Given the description of an element on the screen output the (x, y) to click on. 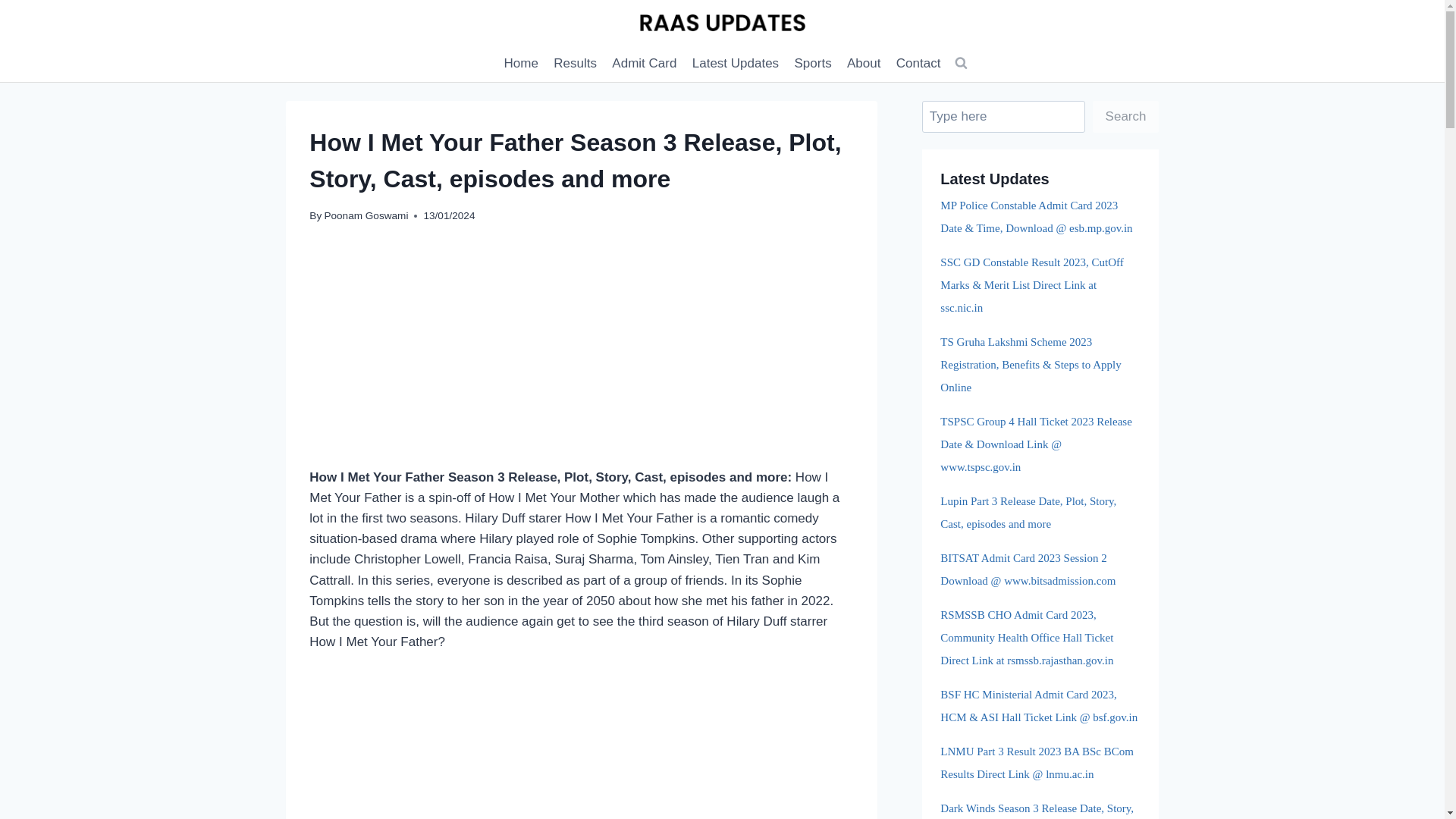
Advertisement (580, 354)
Advertisement (580, 747)
Results (575, 63)
Search (1125, 116)
Admit Card (644, 63)
Home (521, 63)
Latest Updates (735, 63)
About (864, 63)
Contact (918, 63)
Sports (813, 63)
